Given the description of an element on the screen output the (x, y) to click on. 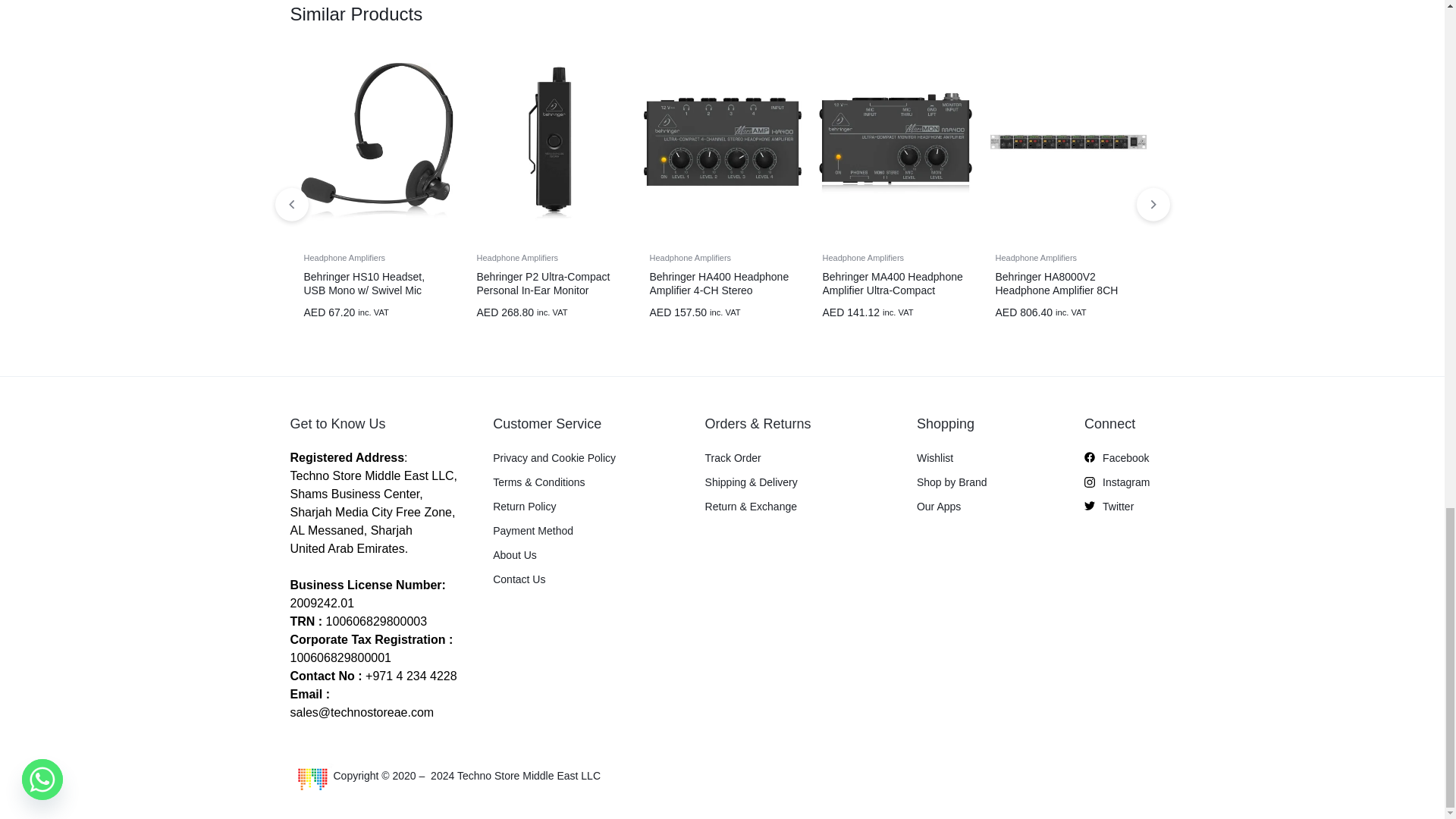
Behringer MA400 Headphone Amplifier Ultra-Compact Monitor (894, 141)
Behringer HA8000V2 Headphone Amplifier 8CH (1067, 141)
Behringer P2 Ultra-Compact Personal In-Ear Monitor Amplifier (548, 141)
Behringer HA400 Headphone Amplifier 4-CH Stereo (721, 141)
